Given the description of an element on the screen output the (x, y) to click on. 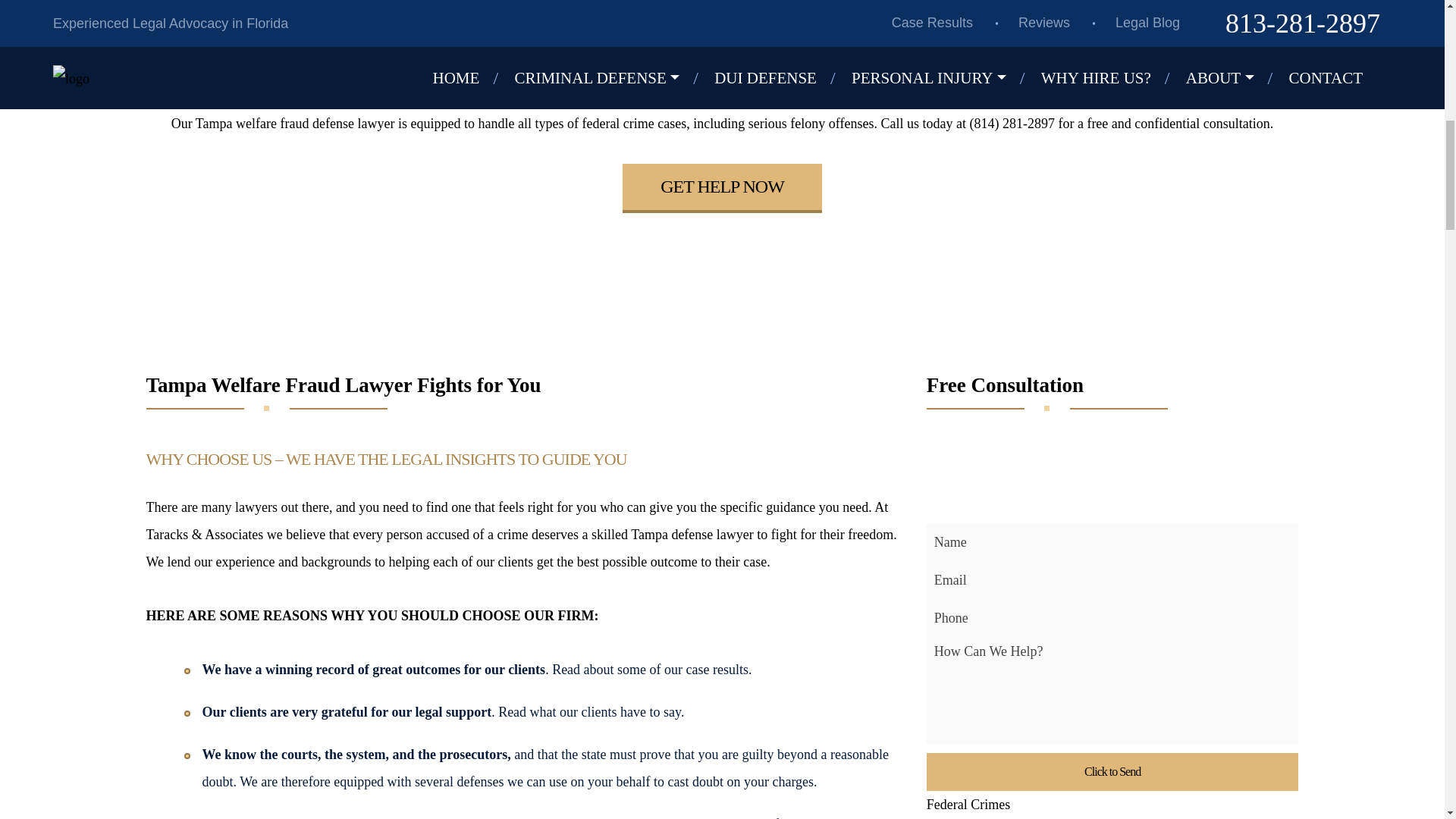
GET HELP NOW (722, 188)
Click to Send (1112, 771)
case results (716, 669)
